Given the description of an element on the screen output the (x, y) to click on. 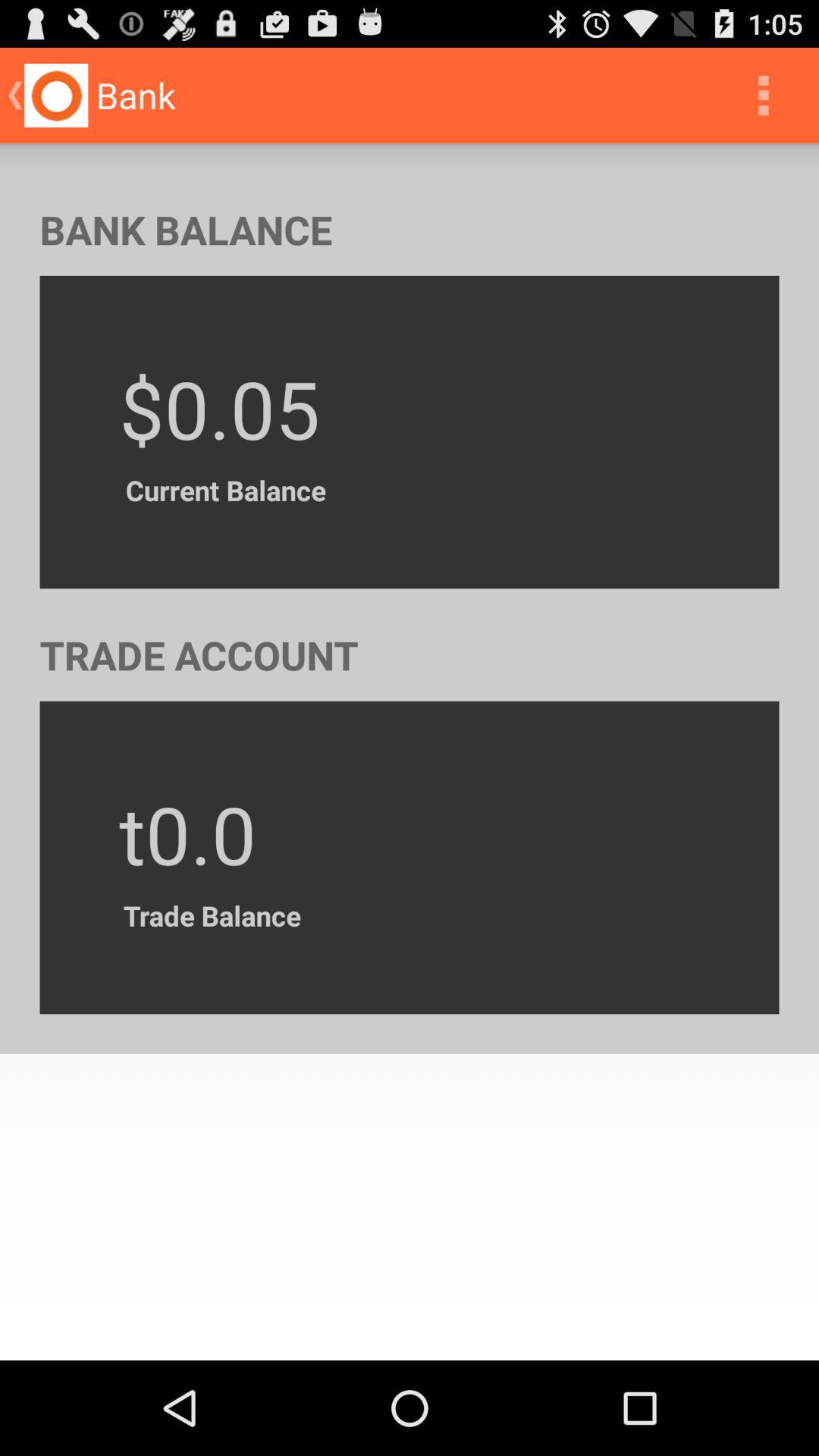
launch item next to the bank (763, 95)
